Given the description of an element on the screen output the (x, y) to click on. 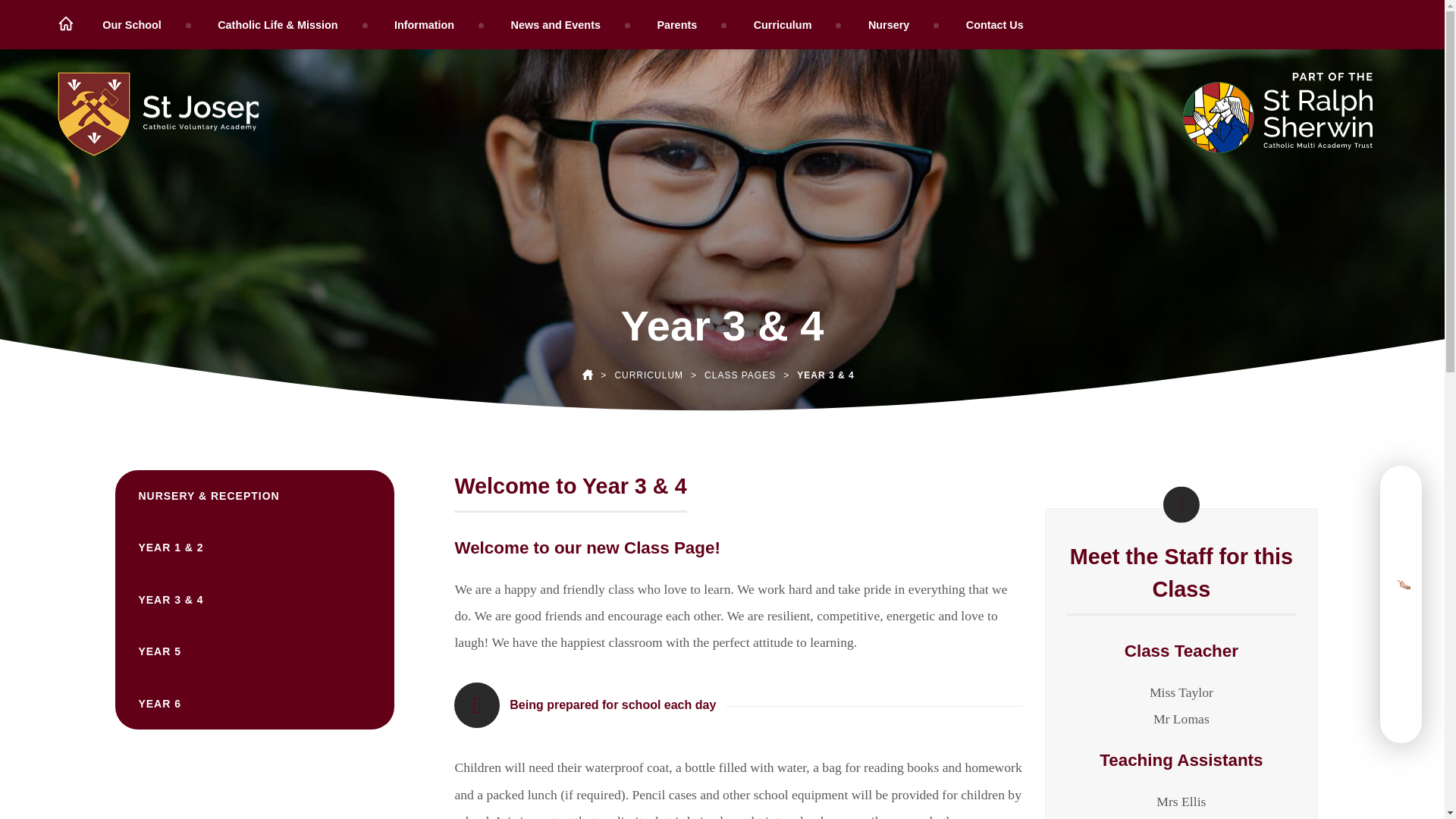
Information (427, 24)
Our School (133, 24)
